Given the description of an element on the screen output the (x, y) to click on. 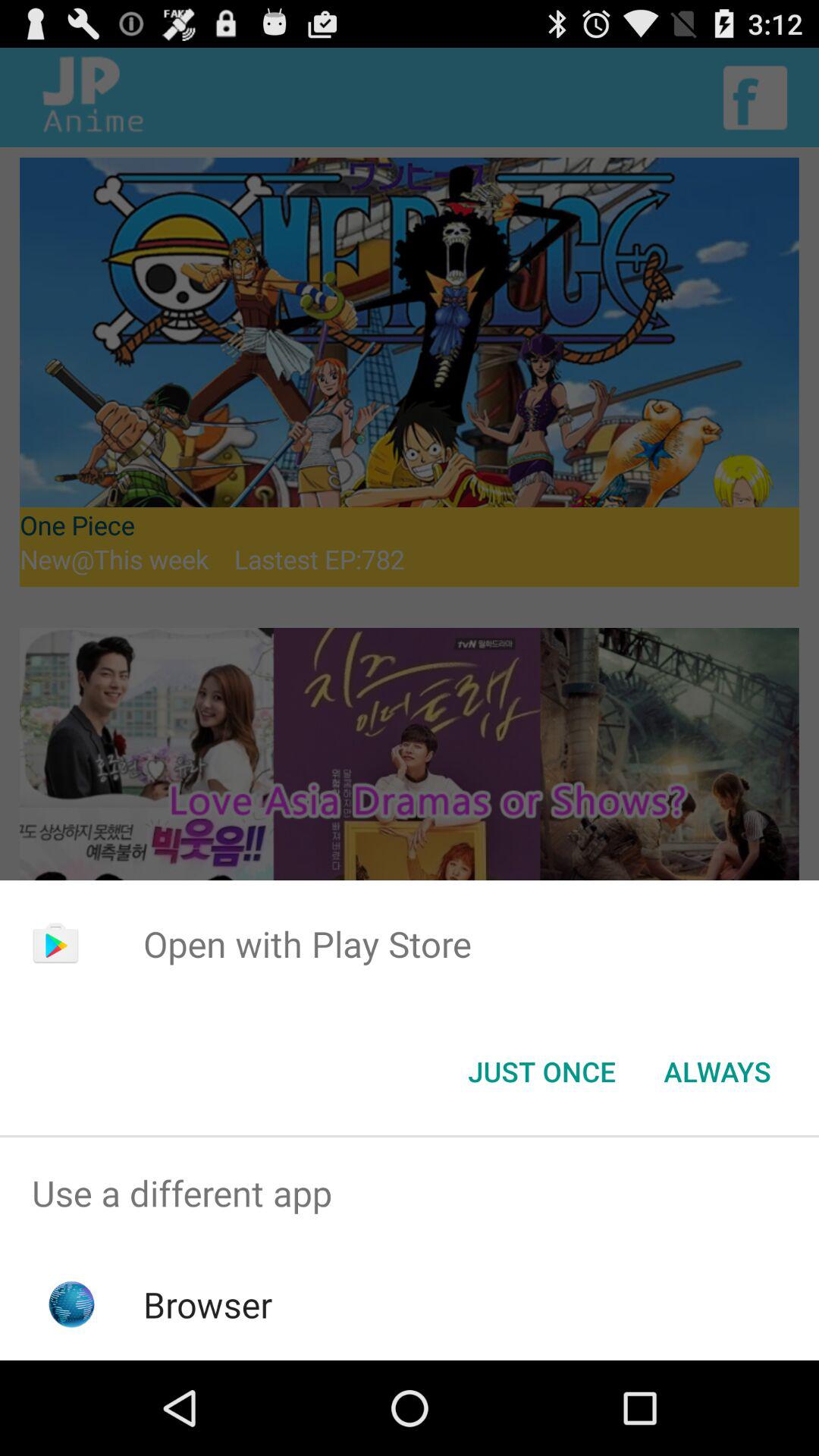
click just once (541, 1071)
